Given the description of an element on the screen output the (x, y) to click on. 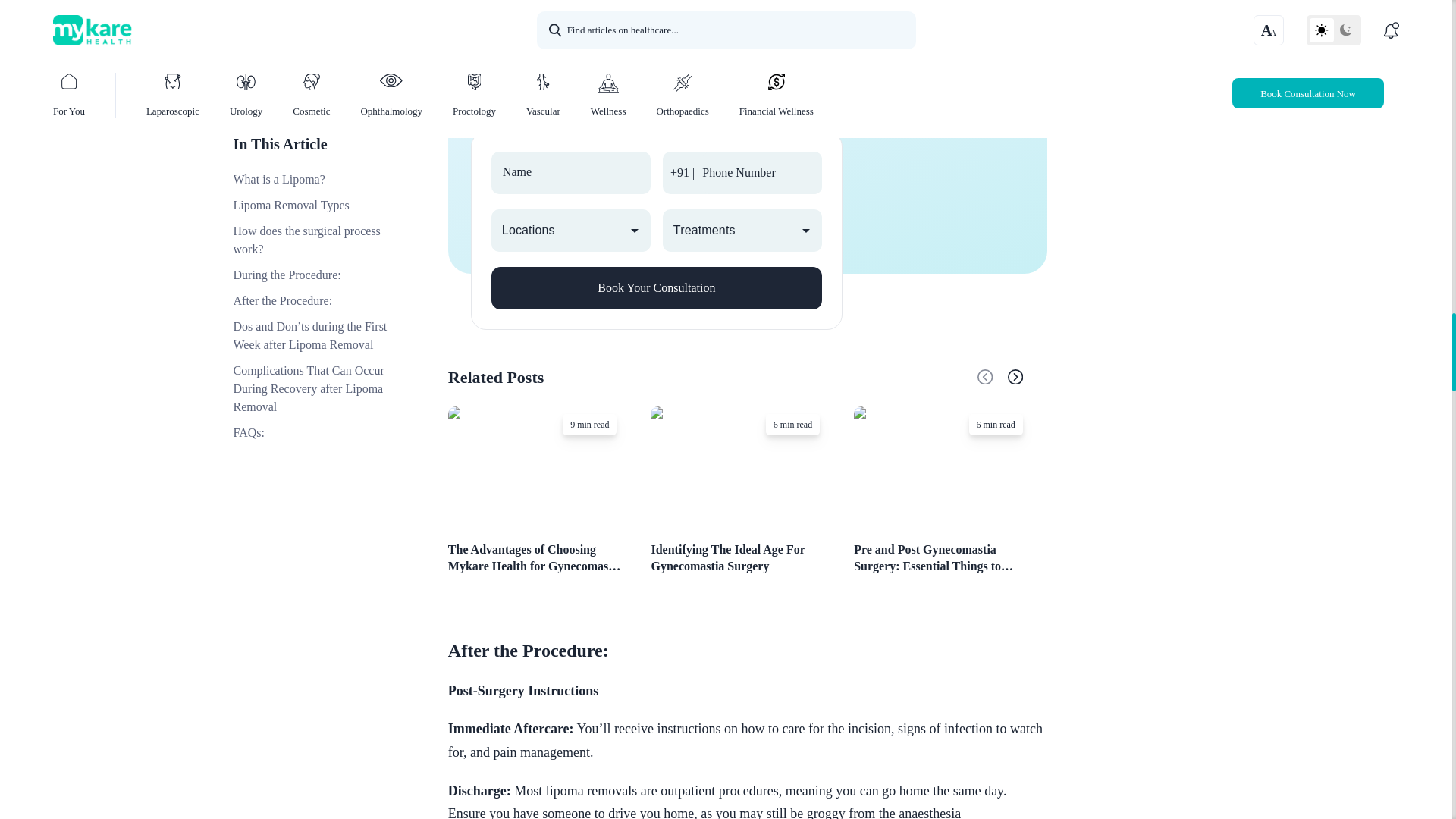
After the Procedure: (747, 650)
Book Your Consultation (657, 287)
Prev button (988, 376)
Open (634, 230)
Open (805, 230)
Next button (1018, 376)
